Given the description of an element on the screen output the (x, y) to click on. 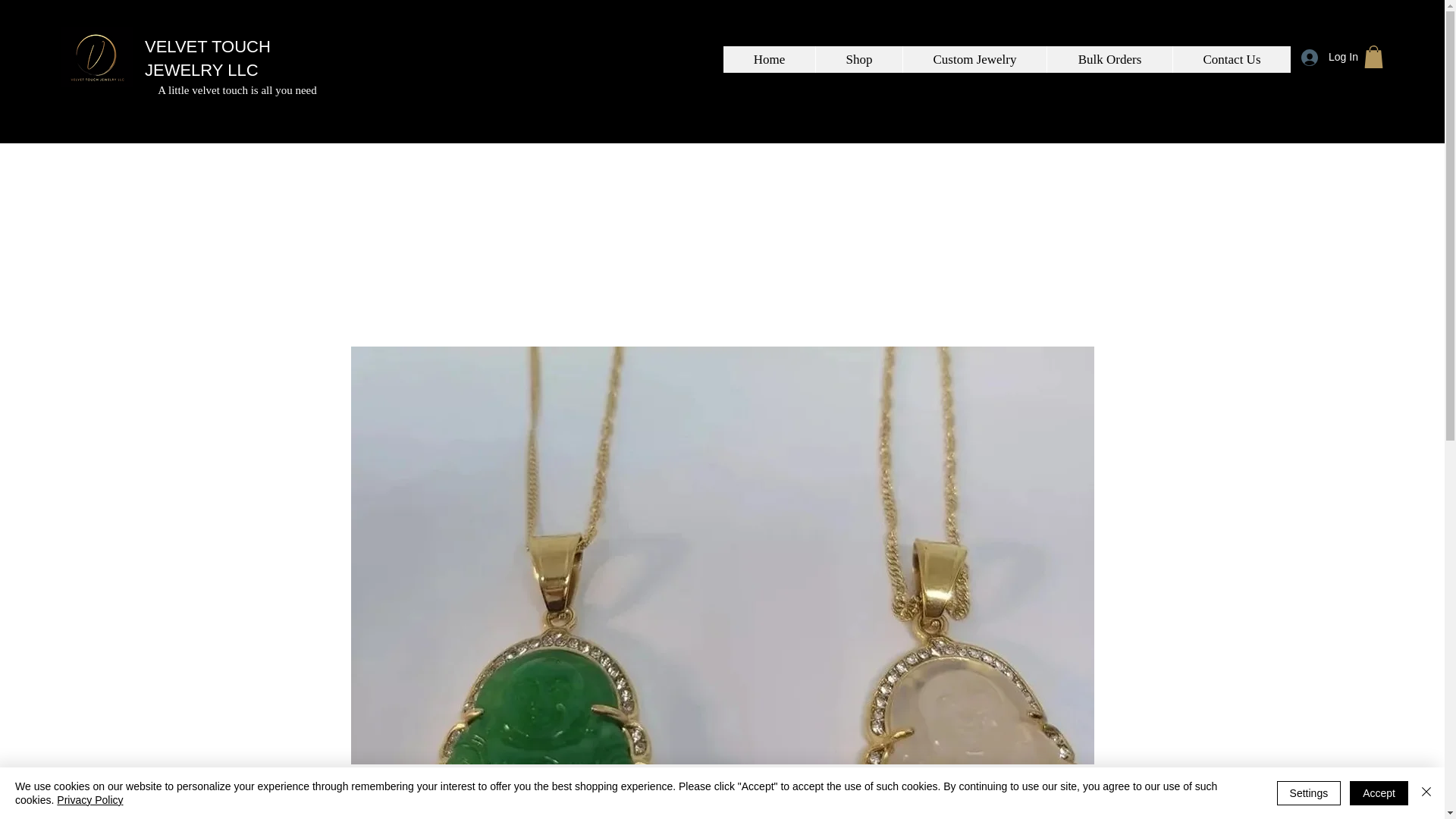
Contact Us (1231, 58)
VELVET TOUCH JEWELRY LLC (207, 57)
Privacy Policy (89, 799)
Custom Jewelry (974, 58)
Settings (1308, 793)
Accept (1378, 793)
Bulk Orders (1109, 58)
Home (769, 58)
Log In (1324, 57)
